Given the description of an element on the screen output the (x, y) to click on. 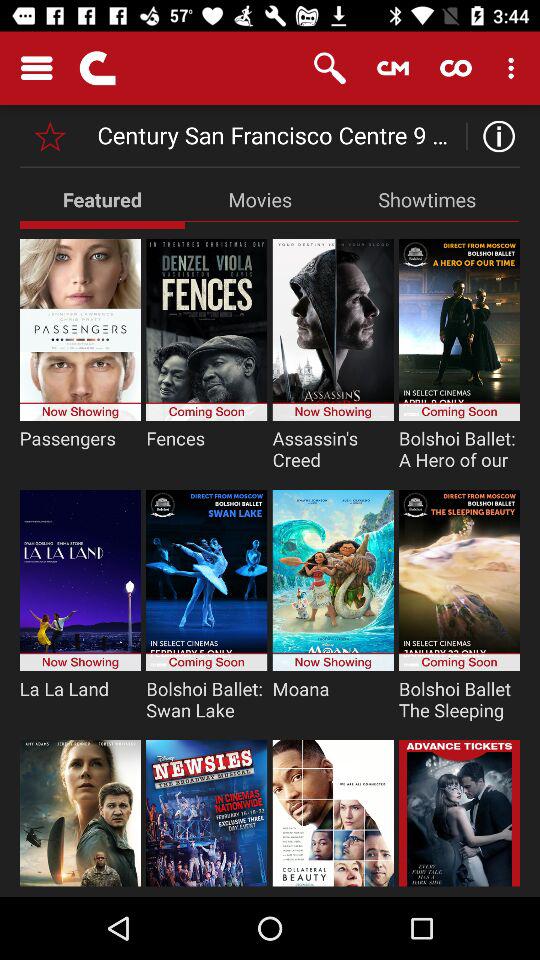
turn off the movies (260, 199)
